Given the description of an element on the screen output the (x, y) to click on. 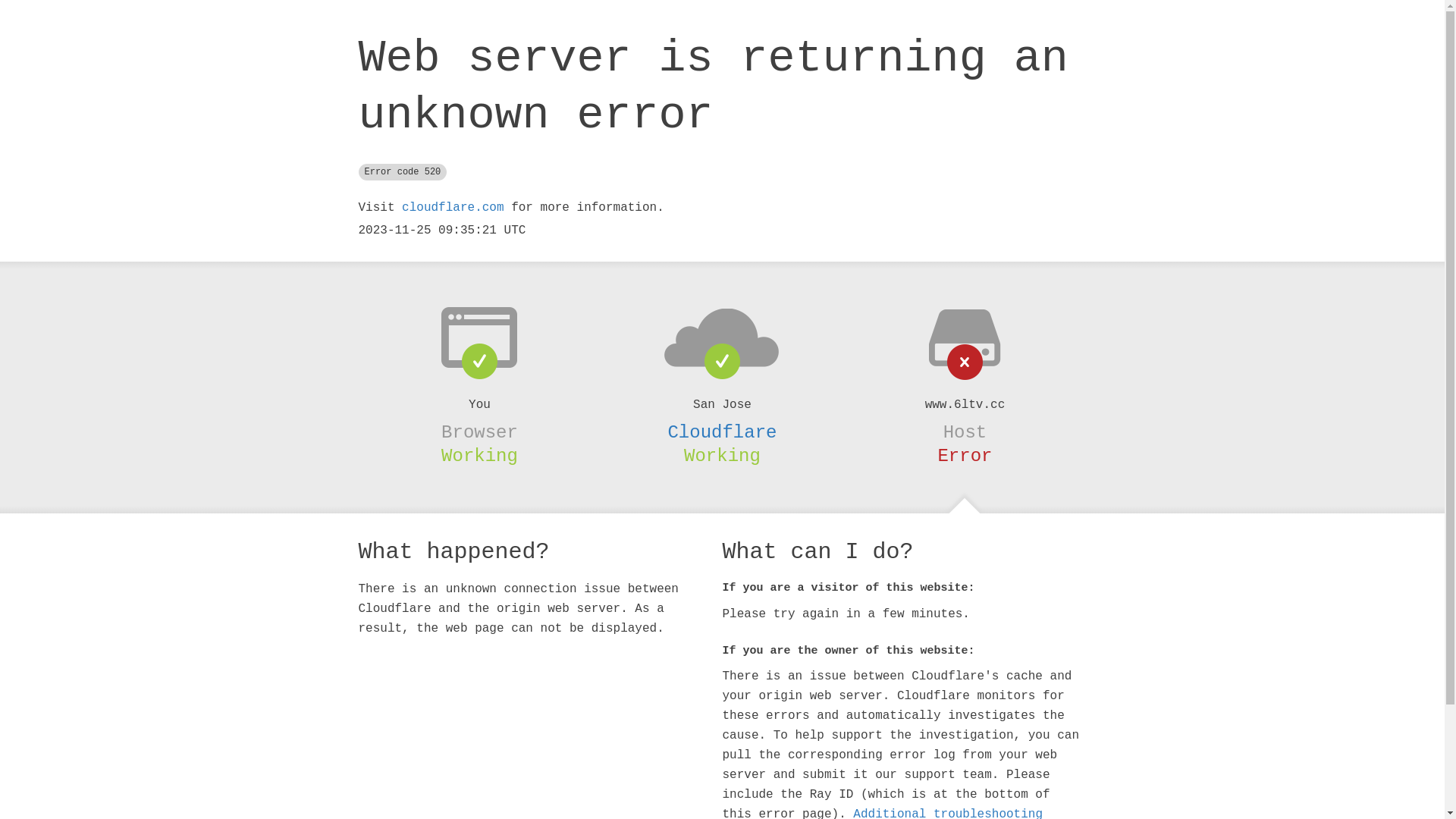
Cloudflare Element type: text (721, 432)
cloudflare.com Element type: text (452, 207)
